Given the description of an element on the screen output the (x, y) to click on. 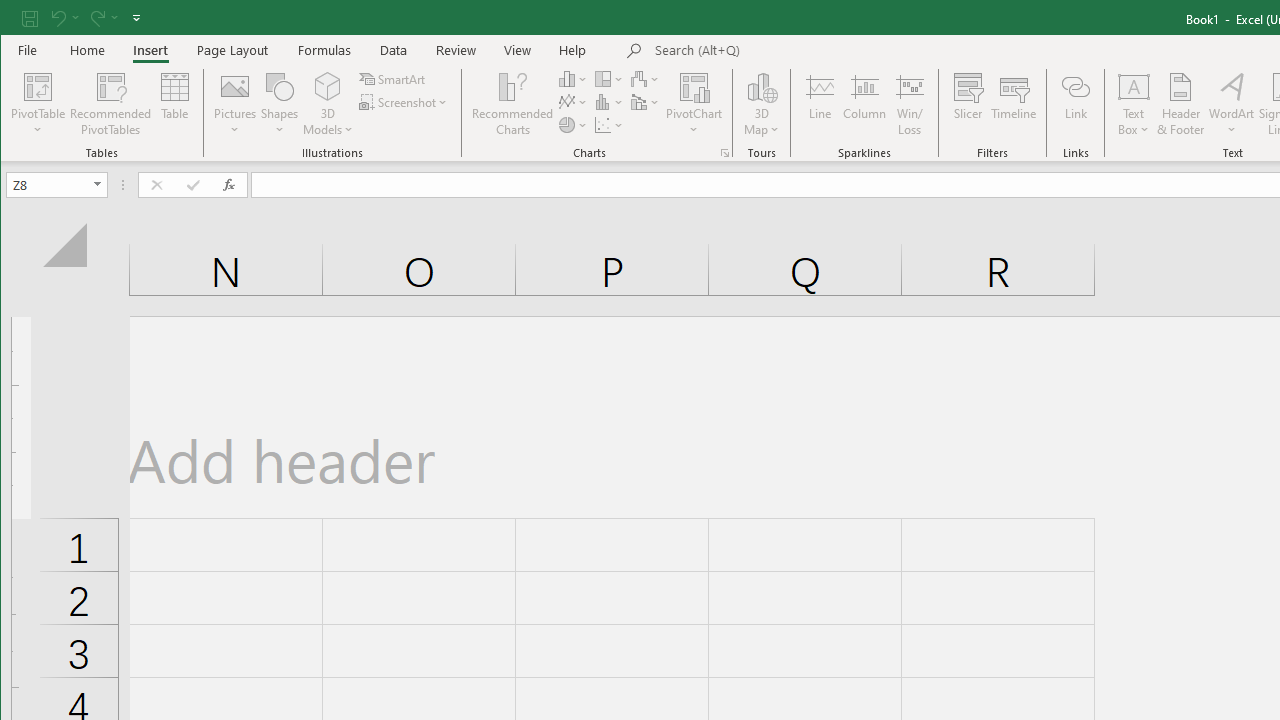
Pictures (235, 104)
Name Box (56, 184)
Microsoft search (794, 51)
Customize Quick Access Toolbar (136, 17)
System (18, 18)
Name Box (48, 184)
File Tab (28, 49)
Insert Statistic Chart (609, 101)
Timeline (1014, 104)
Insert Pie or Doughnut Chart (573, 124)
Save (29, 17)
PivotChart (694, 104)
Text Box (1133, 104)
Insert Scatter (X, Y) or Bubble Chart (609, 124)
Insert Hierarchy Chart (609, 78)
